Given the description of an element on the screen output the (x, y) to click on. 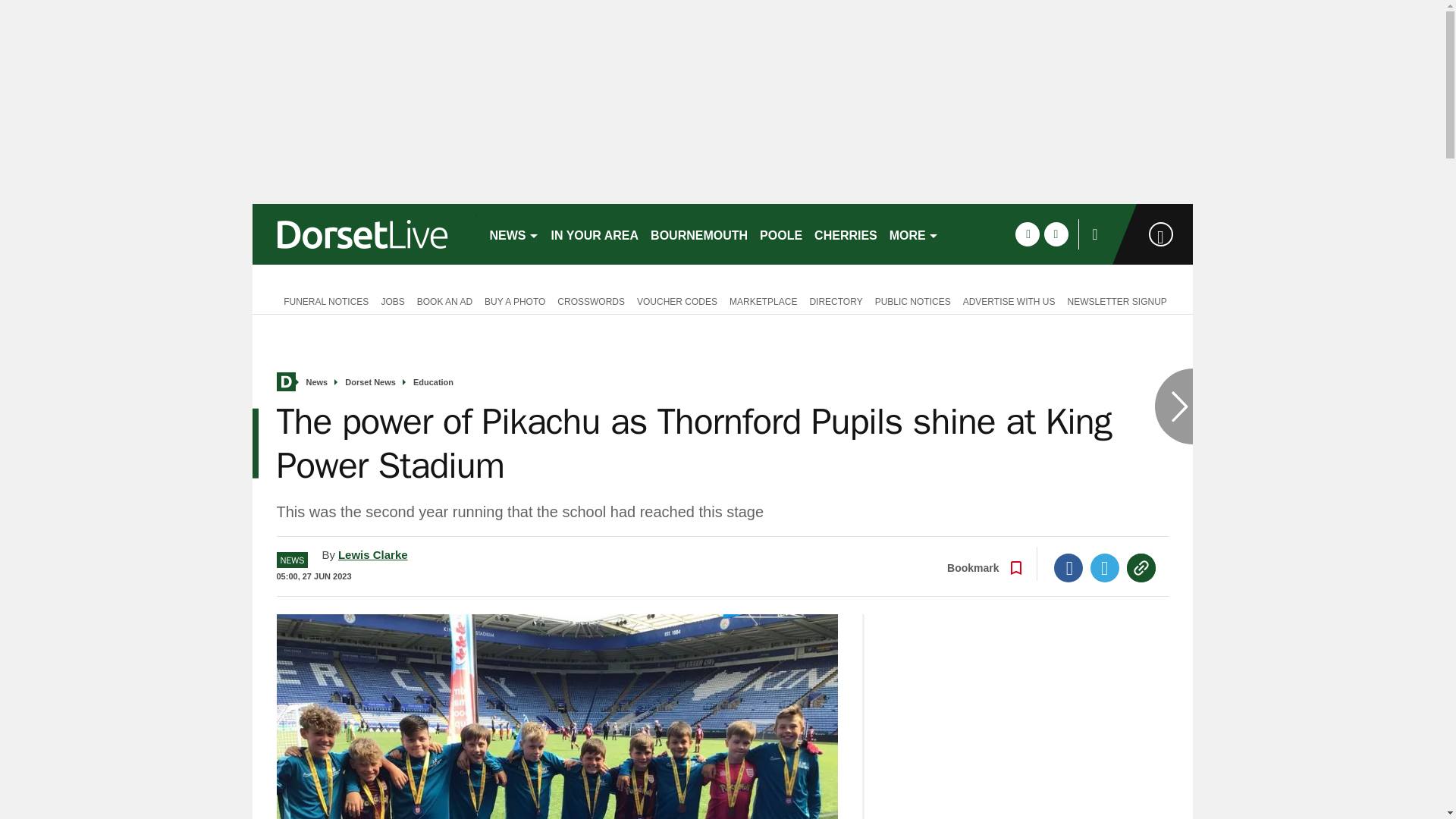
POOLE (781, 233)
NEWS (513, 233)
MORE (913, 233)
Twitter (1104, 567)
CROSSWORDS (590, 300)
CHERRIES (845, 233)
IN YOUR AREA (594, 233)
JOBS (392, 300)
MARKETPLACE (763, 300)
BOOK AN AD (444, 300)
